Given the description of an element on the screen output the (x, y) to click on. 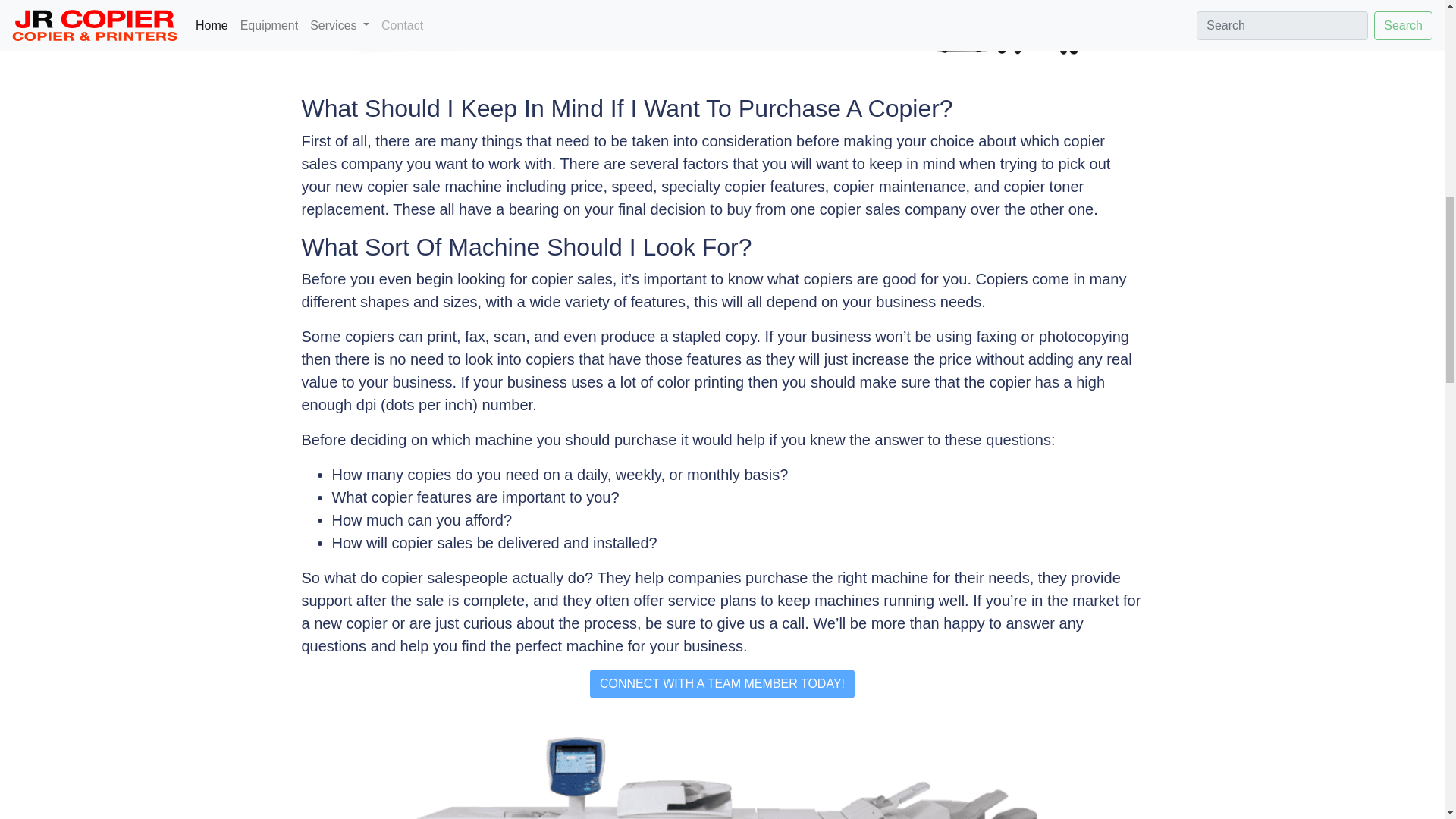
CONNECT WITH A TEAM MEMBER TODAY! (721, 683)
